Given the description of an element on the screen output the (x, y) to click on. 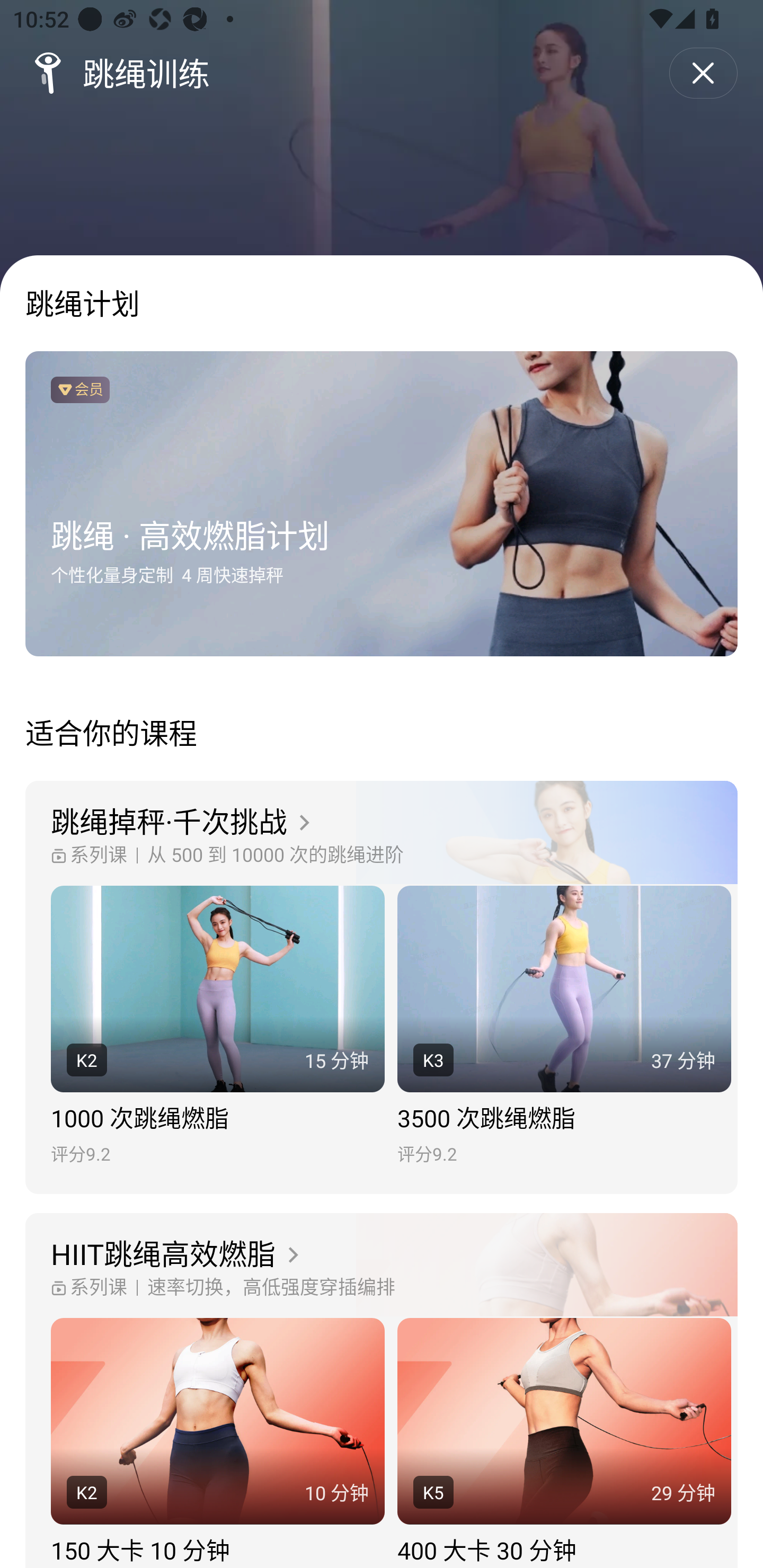
会员 跳绳 · 高效燃脂计划 个性化量身定制  4 周快速掉秤 (381, 503)
跳绳掉秤·千次挑战 系列课 从 500 到 10000 次的跳绳进阶 (381, 832)
K2 15 分钟 1000 次跳绳燃脂 评分9.2 (217, 1025)
K3 37 分钟 3500 次跳绳燃脂 评分9.2 (563, 1025)
HIIT跳绳高效燃脂 系列课 速率切换，高低强度穿插编排 (381, 1265)
K2 10 分钟 150 大卡 10 分钟 (217, 1443)
K5 29 分钟 400 大卡 30 分钟 (563, 1443)
